Given the description of an element on the screen output the (x, y) to click on. 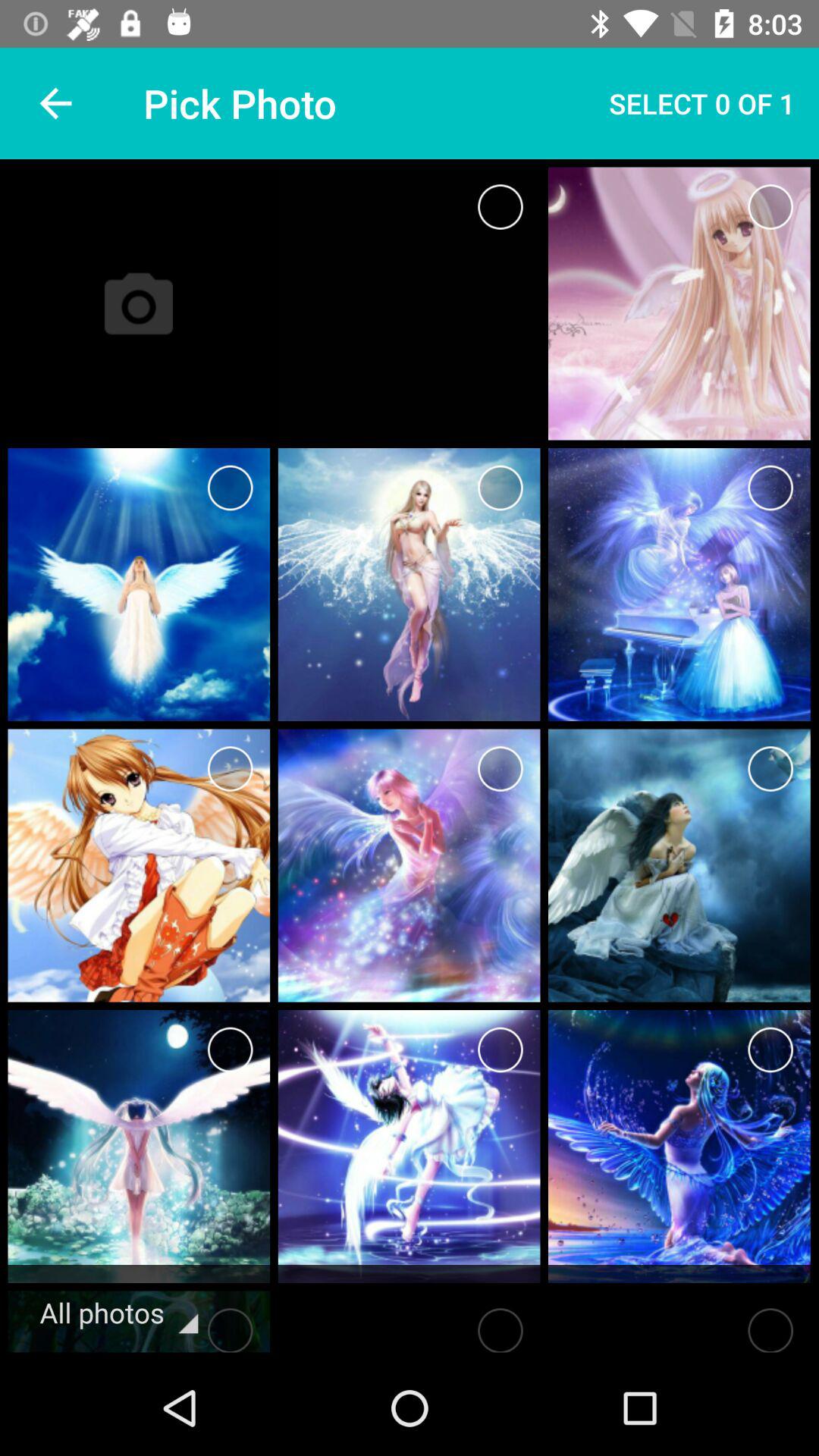
choose this photo (500, 768)
